Given the description of an element on the screen output the (x, y) to click on. 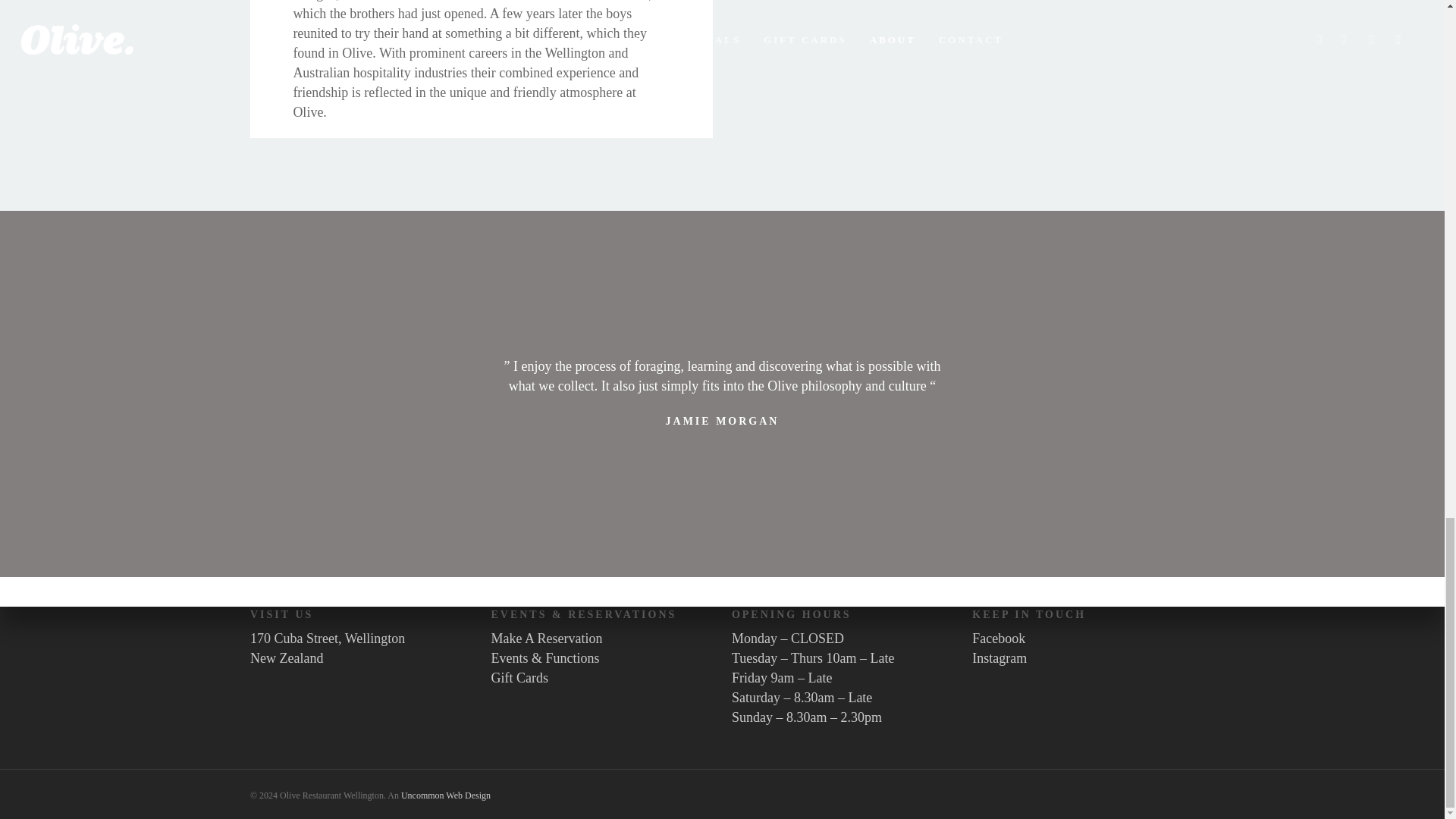
Fratelli on Blair Street (586, 0)
